Given the description of an element on the screen output the (x, y) to click on. 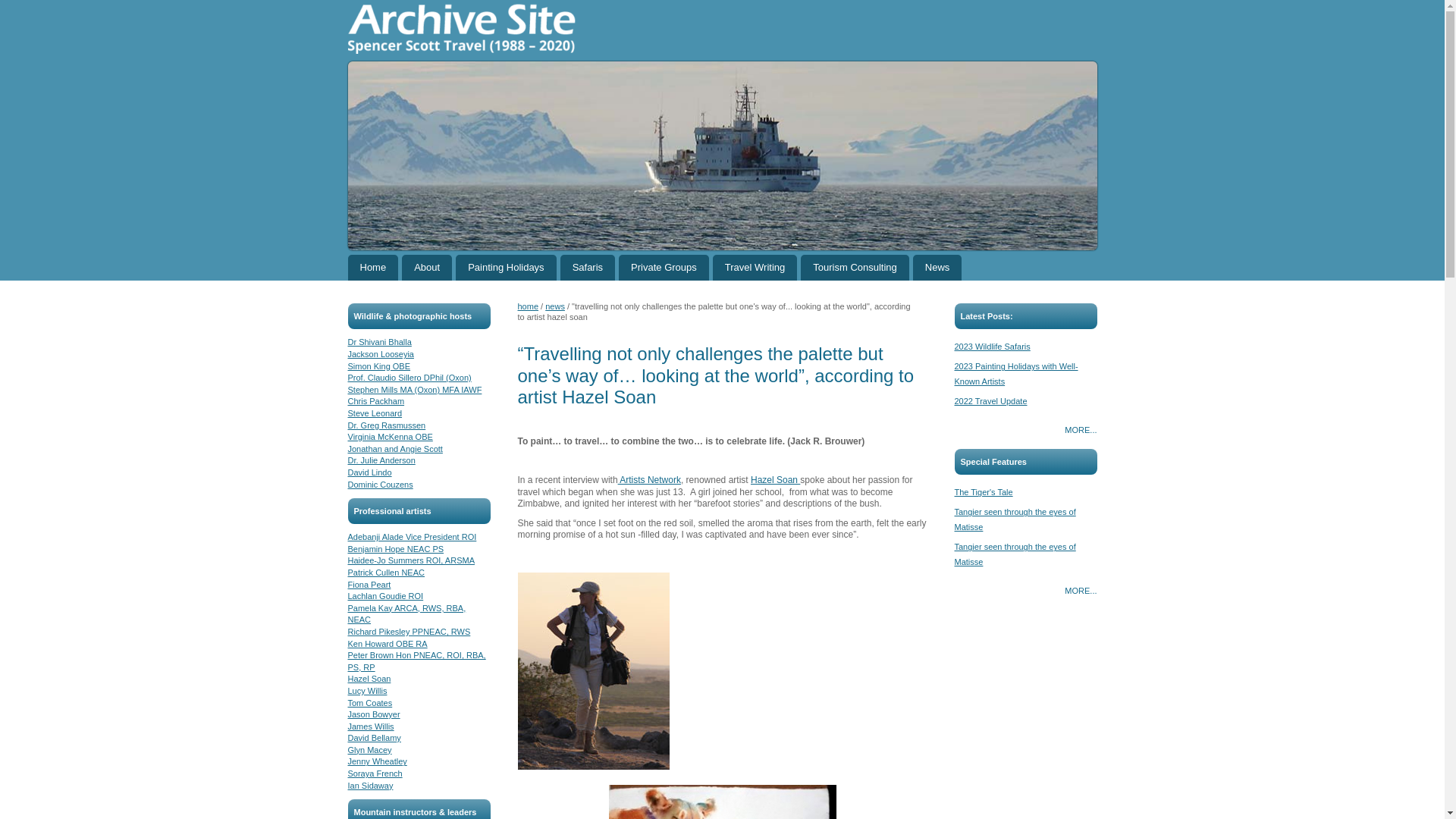
Patrick Cullen NEAC (385, 572)
Tom Coates (369, 702)
Jonathan and Angie Scott (394, 448)
Haidee-Jo Summers ROI, ARSMA (410, 560)
Ken Howard OBE RA (386, 643)
Travel Writing (754, 267)
Safaris (587, 267)
Dr Shivani Bhalla (378, 341)
News (937, 267)
Peter Brown Hon PNEAC, ROI, RBA, PS, RP (415, 660)
Jackson Looseyia (380, 353)
Richard Pikesley PPNEAC, RWS (408, 631)
Adebanji Alade Vice President ROI (411, 536)
Dr. Greg Rasmussen (386, 424)
Home (372, 267)
